Given the description of an element on the screen output the (x, y) to click on. 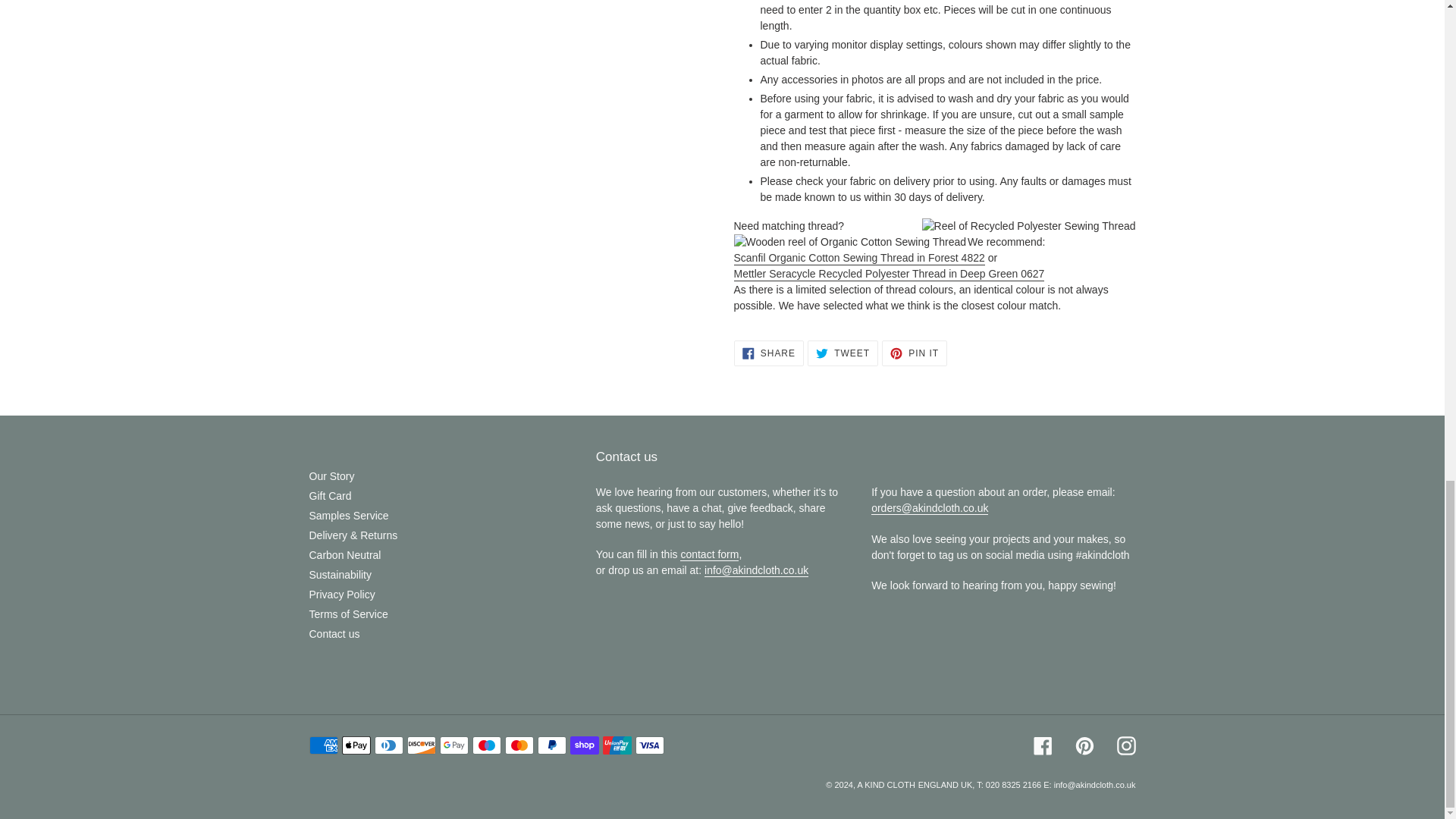
Mettler Seracycle Recycled Polyester Thread Deep Green (889, 274)
Scanfil Organic Cotton Sewing Thread Forest (859, 258)
